Given the description of an element on the screen output the (x, y) to click on. 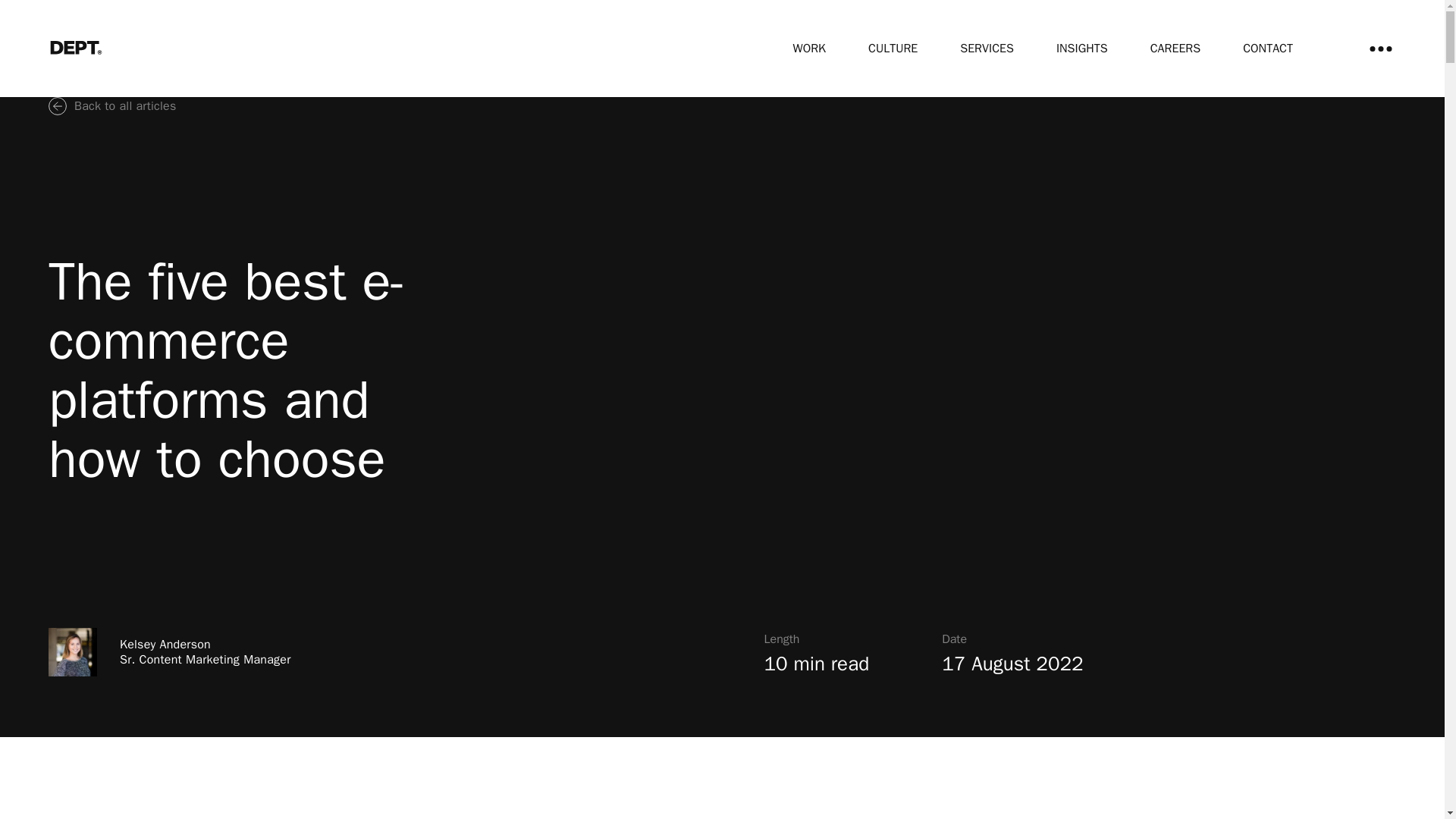
SERVICES (986, 48)
WORK (809, 48)
CONTACT (1267, 48)
CULTURE (892, 48)
Toggle menu (1380, 48)
CAREERS (1174, 48)
Back to all articles (112, 106)
INSIGHTS (1082, 48)
